Given the description of an element on the screen output the (x, y) to click on. 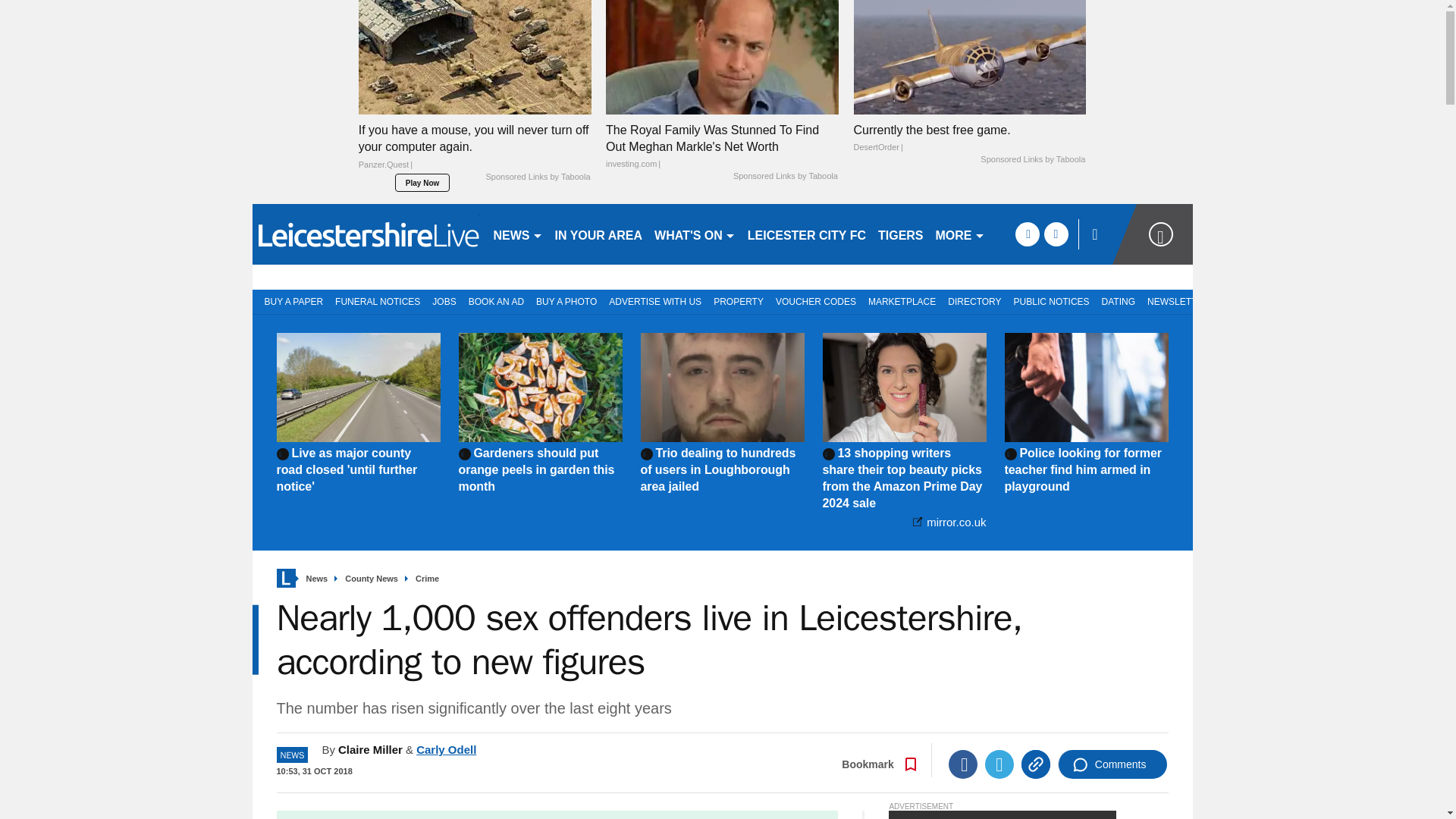
Sponsored Links by Taboola (785, 176)
facebook (1026, 233)
IN YOUR AREA (598, 233)
twitter (1055, 233)
Facebook (962, 764)
WHAT'S ON (694, 233)
NEWS (517, 233)
leicestermercury (365, 233)
Twitter (999, 764)
Comments (1112, 764)
Sponsored Links by Taboola (536, 176)
